Given the description of an element on the screen output the (x, y) to click on. 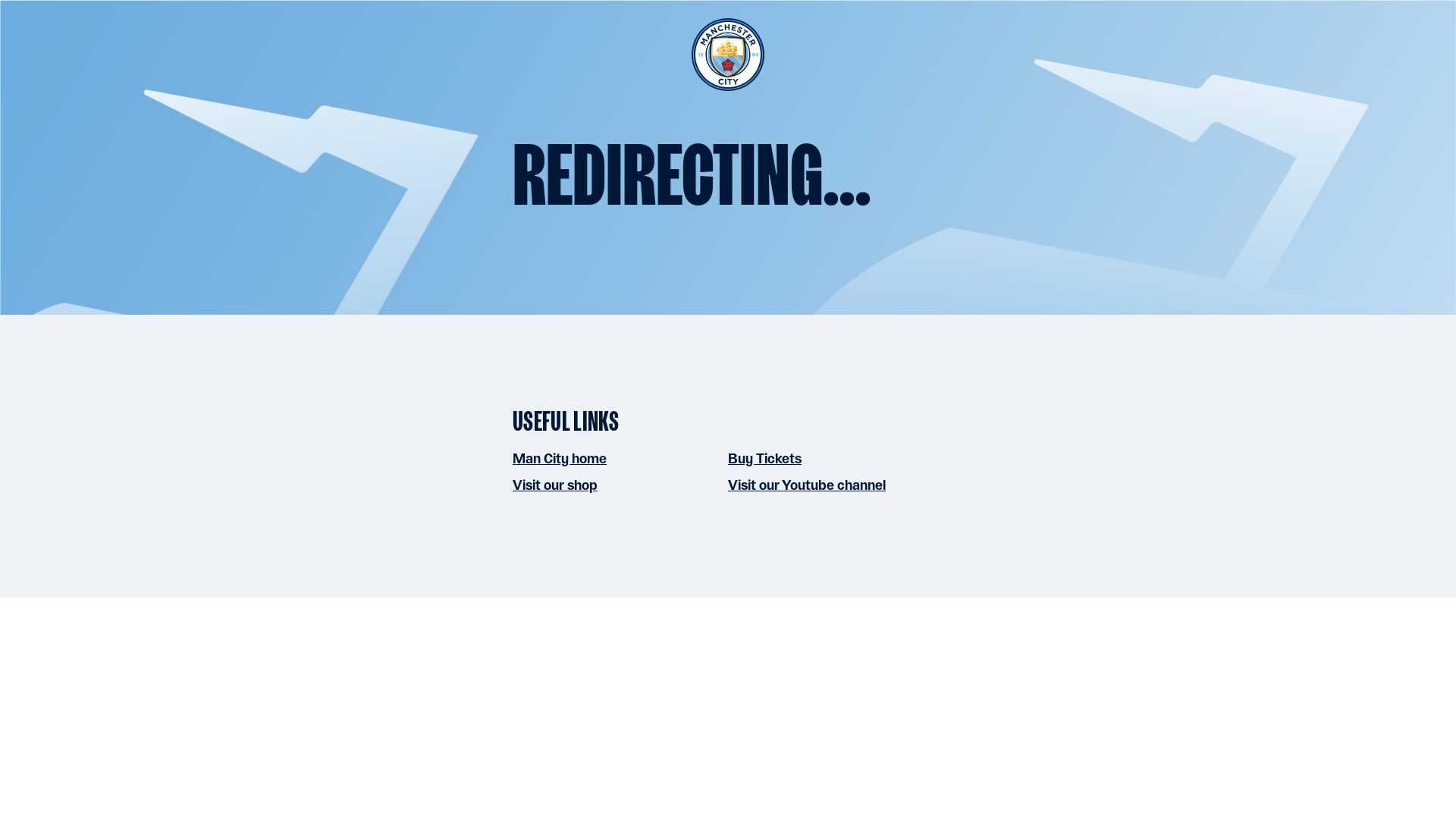
Buy Tickets (765, 458)
Visit our shop (554, 484)
Man City home (559, 458)
Visit our Youtube channel (806, 484)
